Given the description of an element on the screen output the (x, y) to click on. 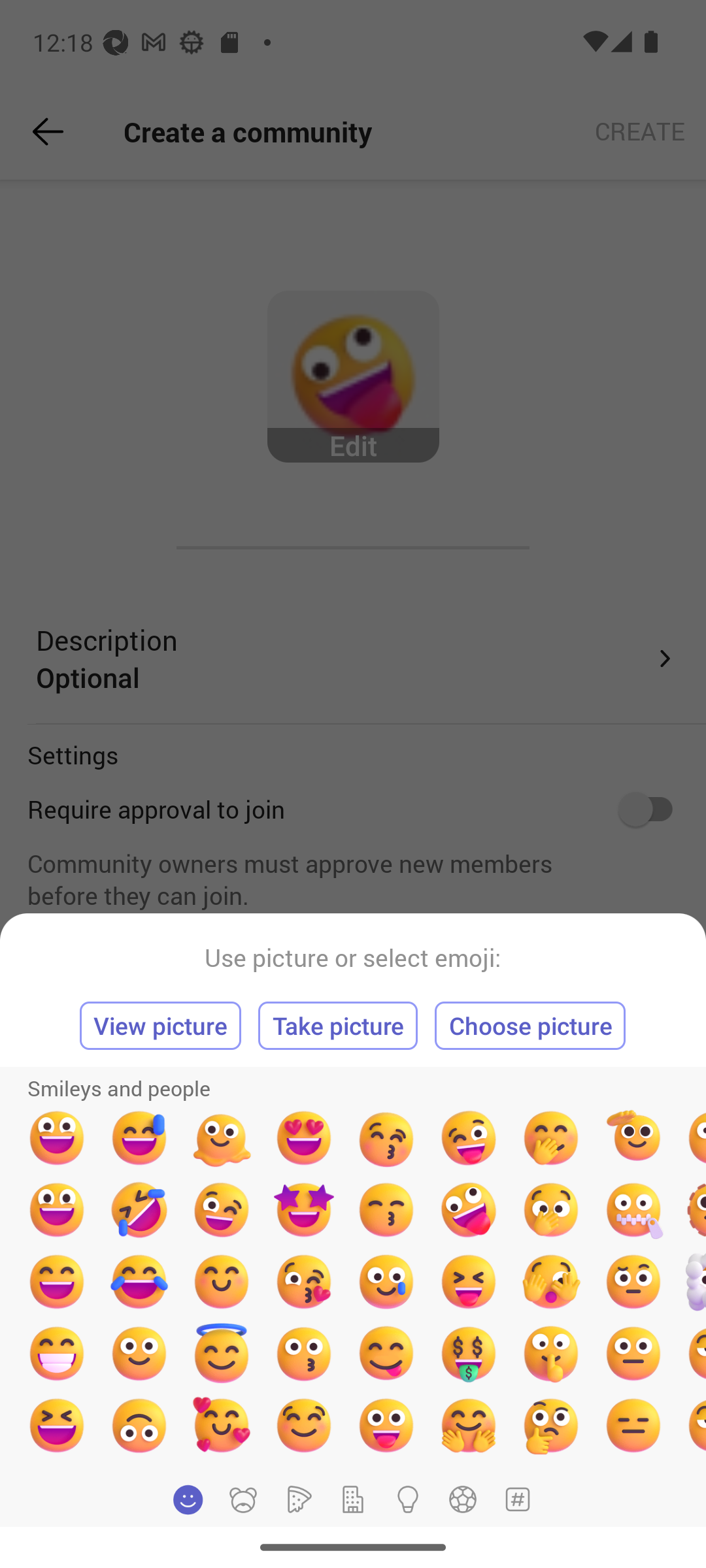
View picture (160, 1025)
Take picture (337, 1025)
Choose picture (529, 1025)
Grinning face with big eyes emoji (56, 1138)
Sweat grinning emoji (139, 1138)
Melting face emoji (221, 1138)
Heart eyes emoji (303, 1138)
Kissing face with closed eyes emoji (386, 1138)
Winking tongue out emoji (468, 1138)
Giggle emoji (550, 1138)
Saluting face emoji (633, 1138)
Happy face emoji (56, 1210)
Rolling on the floor laughing emoji (139, 1210)
Wink emoji (221, 1210)
Star eyes emoji (303, 1210)
Kissing face with smiling eyes emoji (386, 1210)
Zany face emoji (468, 1210)
Hand over mouth emoji (550, 1210)
Zipper mouth face emoji (633, 1210)
Grinning face with smiling eyes emoji (56, 1281)
Crying with laughter emoji (139, 1281)
Smile eyes emoji (221, 1281)
Face blowing a kiss emoji (303, 1281)
Smiling face with tear emoji (386, 1281)
Squinting face with tongue emoji (468, 1281)
Peeking eye emoji (550, 1281)
Wondering emoji (633, 1281)
Beaming face with smiling eyes emoji (56, 1353)
Smile emoji (139, 1353)
Angel emoji (221, 1353)
Kiss emoji (303, 1353)
Cheeky emoji (386, 1353)
Money mouth face emoji (468, 1353)
My lips are sealed emoji (550, 1353)
Speechless emoji (633, 1353)
Laugh emoji (56, 1425)
Upside down face emoji (139, 1425)
In love emoji (221, 1425)
Mmmmm… emoji (303, 1425)
Face with tongue emoji (386, 1425)
Hugging face emoji (468, 1425)
Thinking emoji (550, 1425)
Expressionless emoji (633, 1425)
Smileys and people, selected (188, 1499)
Animals, not selected (243, 1499)
Food, not selected (297, 1499)
Travel and places, not selected (352, 1499)
Objects, not selected (407, 1499)
Activities, not selected (462, 1499)
Symbols, not selected (517, 1499)
